Given the description of an element on the screen output the (x, y) to click on. 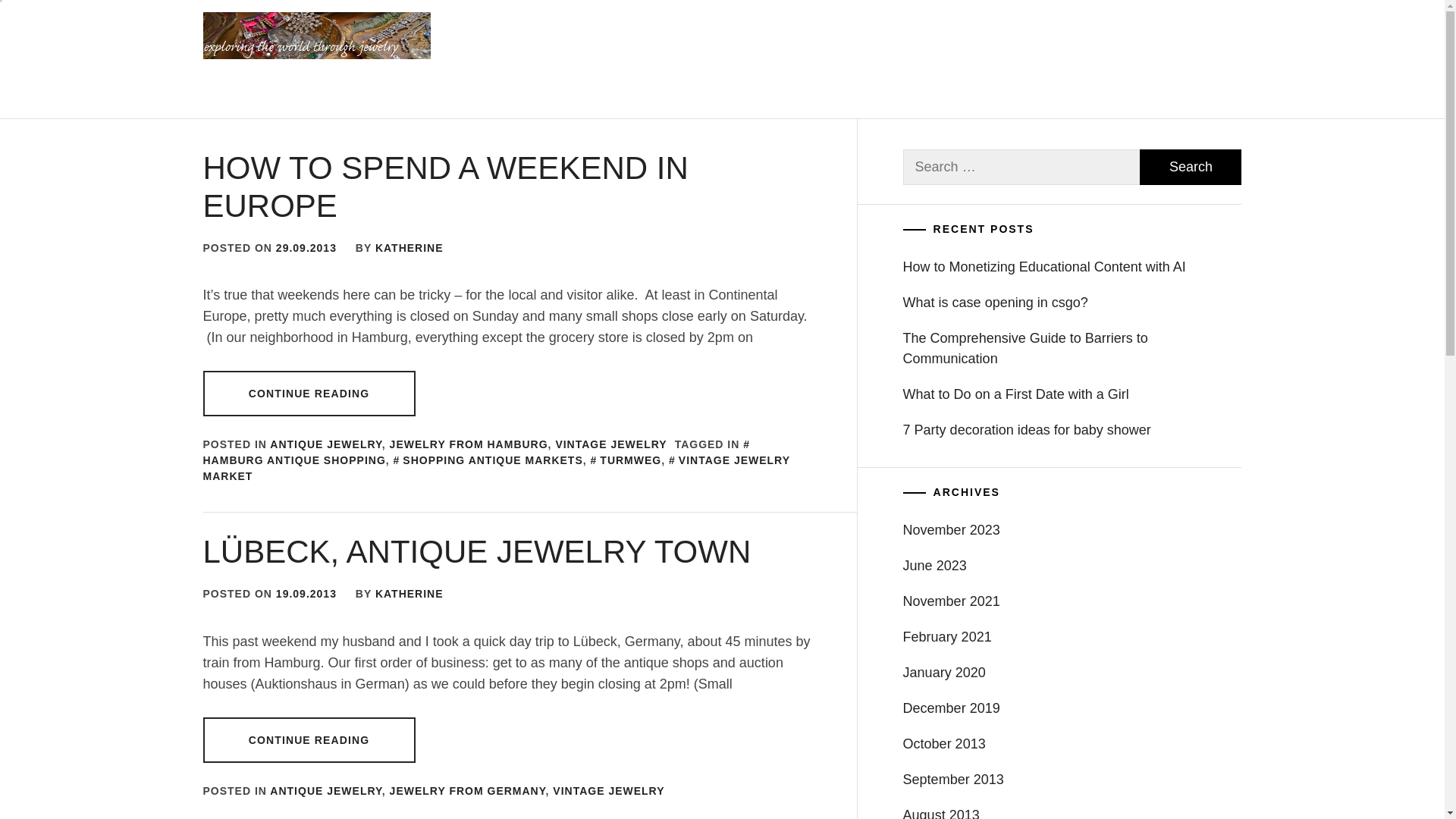
Search (797, 409)
SHOPPING ANTIQUE MARKETS (488, 460)
Search (1190, 167)
JEWELRY FROM GERMANY (468, 790)
VINTAGE JEWELRY (610, 444)
CONTINUE READING (308, 739)
KATHERINE (409, 247)
JEWELRY FROM HAMBURG (469, 444)
KATHERINE (409, 593)
HOW TO SPEND A WEEKEND IN EUROPE (445, 186)
